Given the description of an element on the screen output the (x, y) to click on. 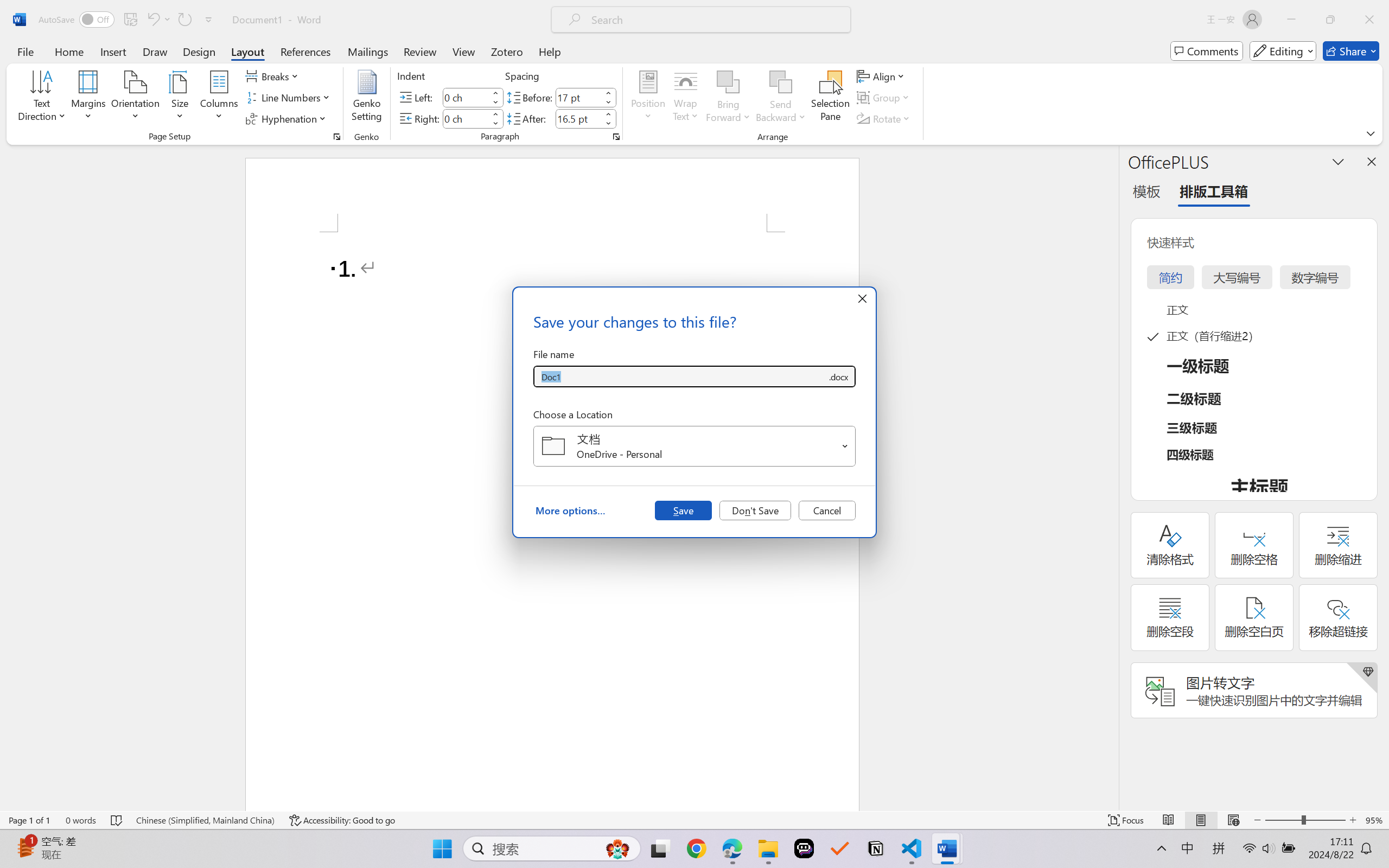
Choose a Location (694, 446)
Columns (219, 97)
Group (884, 97)
